Given the description of an element on the screen output the (x, y) to click on. 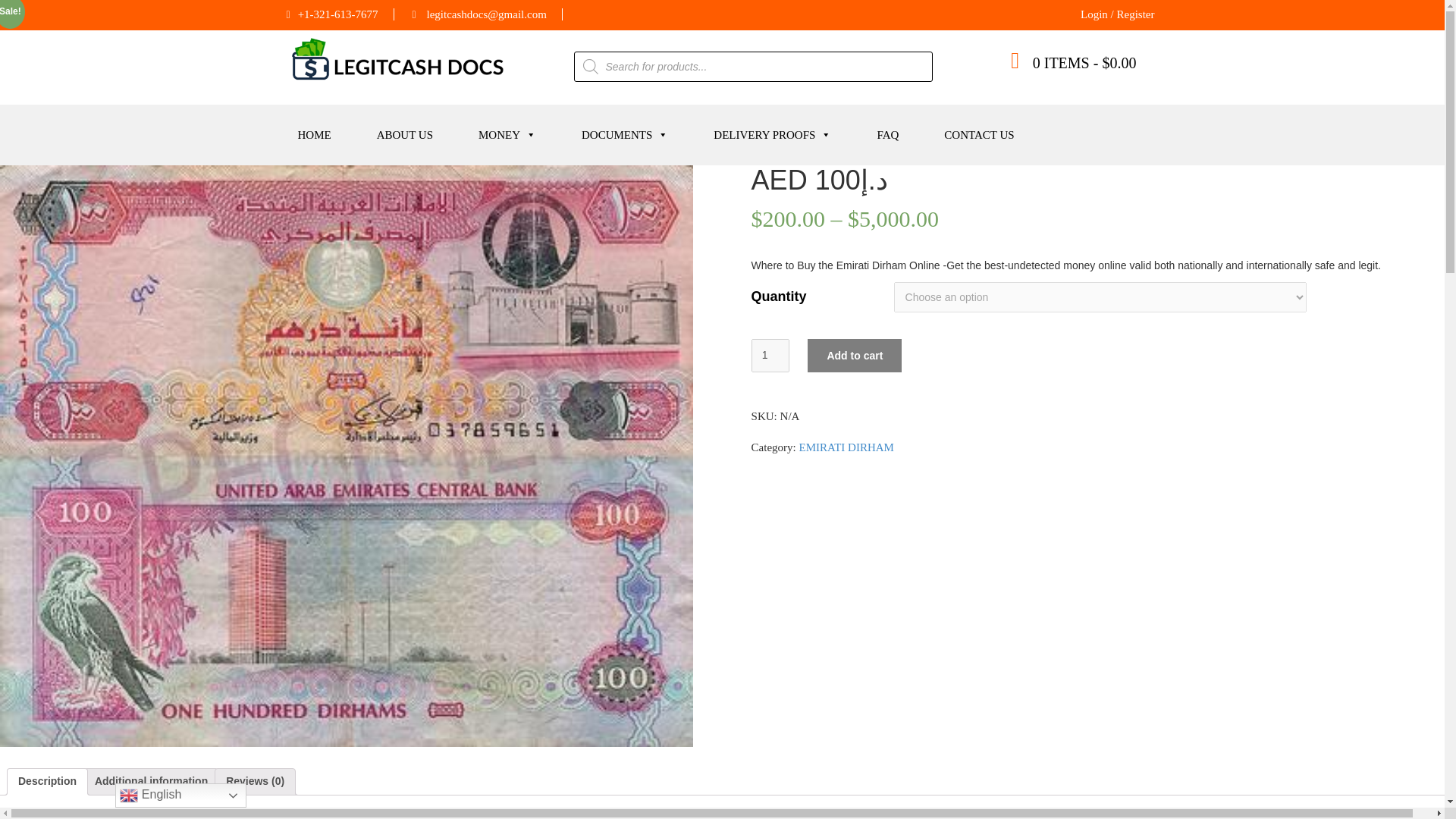
ABOUT US (404, 134)
Add to cart (854, 355)
DELIVERY PROOFS (772, 134)
EMIRATI DIRHAM (846, 447)
CONTACT US (978, 134)
Additional information (151, 781)
HOME (314, 134)
FAQ (887, 134)
1 (770, 355)
DOCUMENTS (624, 134)
